Given the description of an element on the screen output the (x, y) to click on. 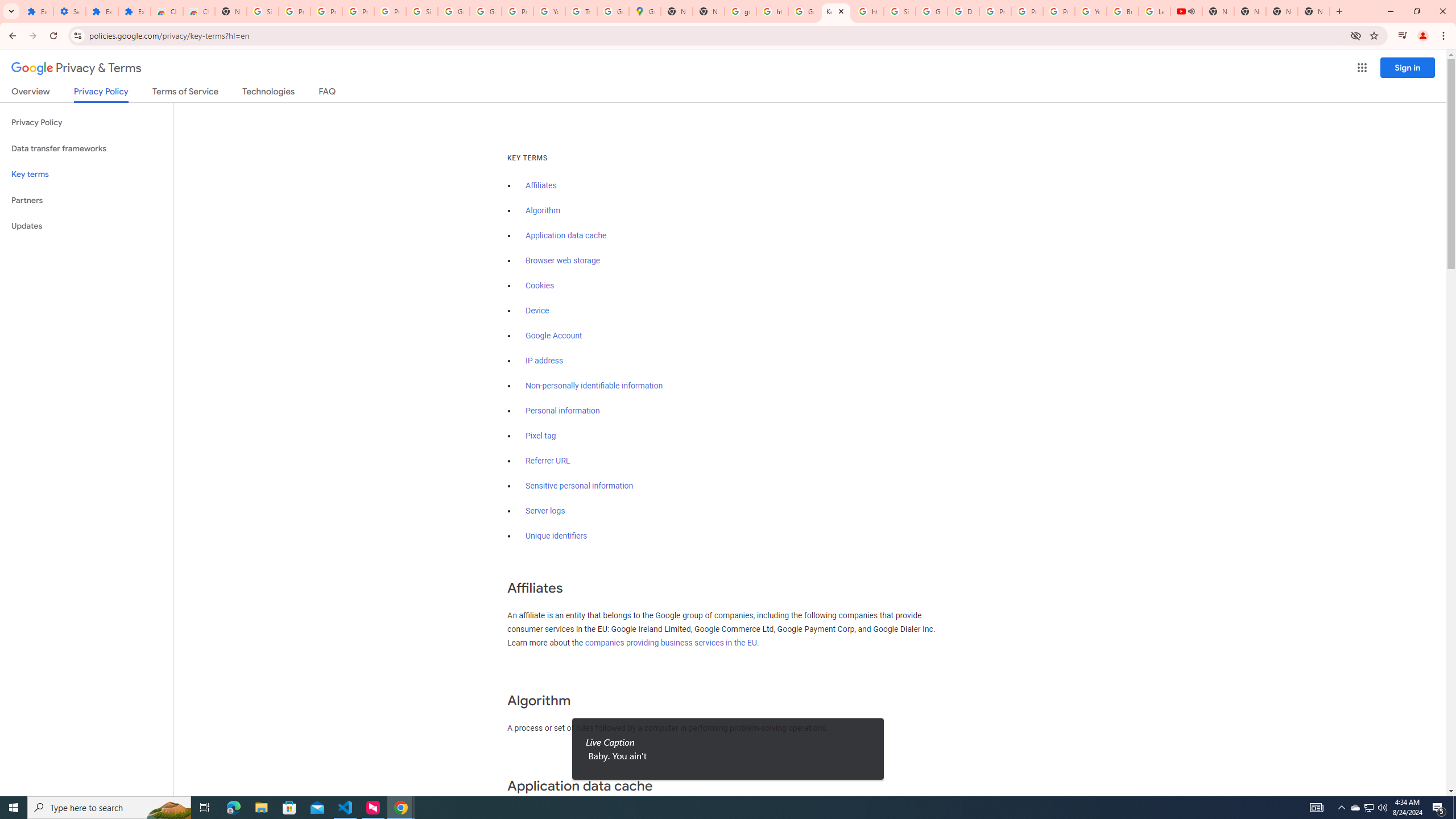
YouTube (1091, 11)
companies providing business services in the EU (671, 642)
https://scholar.google.com/ (772, 11)
Browser web storage (562, 260)
Extensions (37, 11)
Google Account (553, 335)
Sign in - Google Accounts (899, 11)
